Given the description of an element on the screen output the (x, y) to click on. 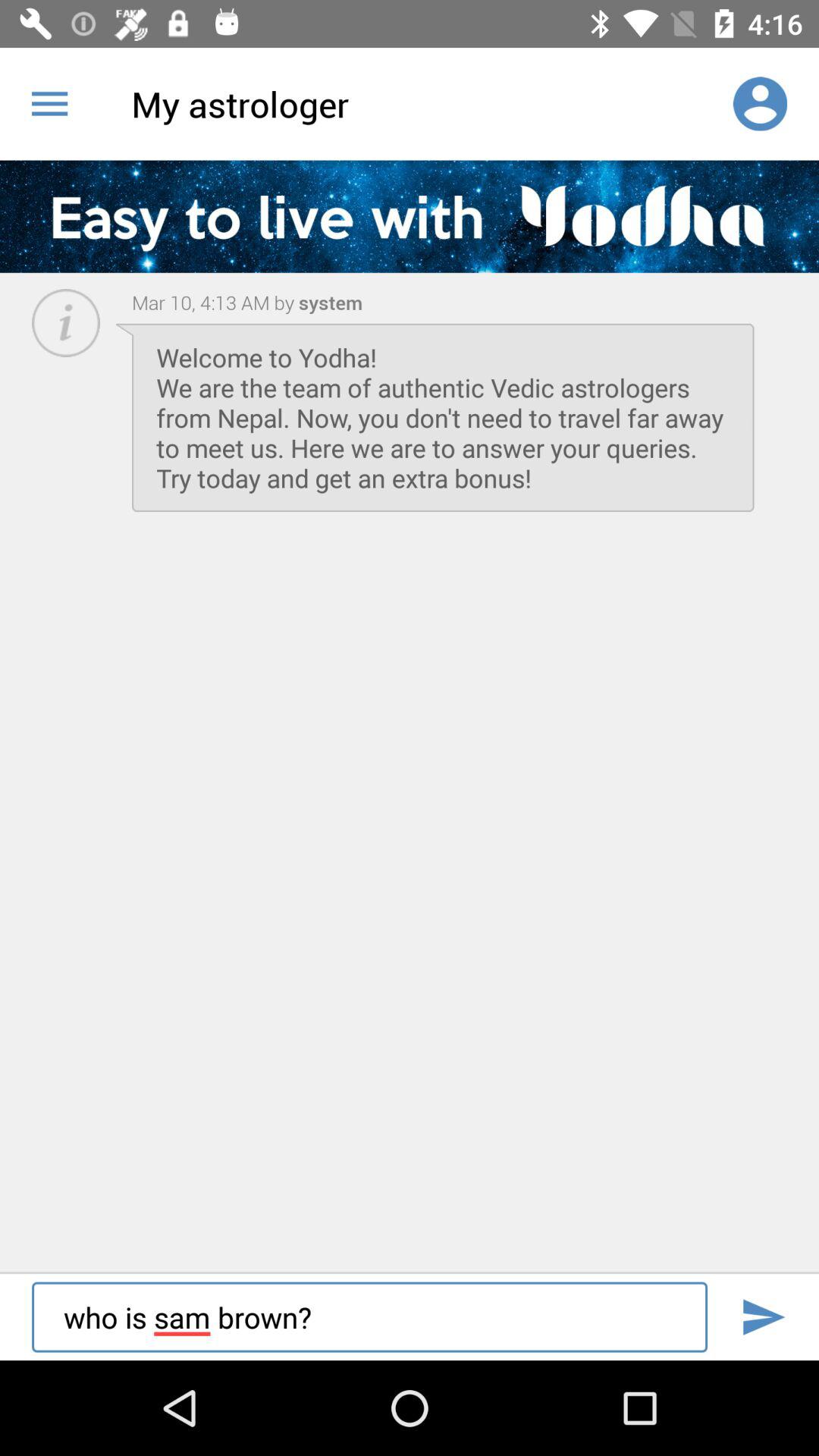
turn off item to the right of the who is sam icon (763, 1317)
